Given the description of an element on the screen output the (x, y) to click on. 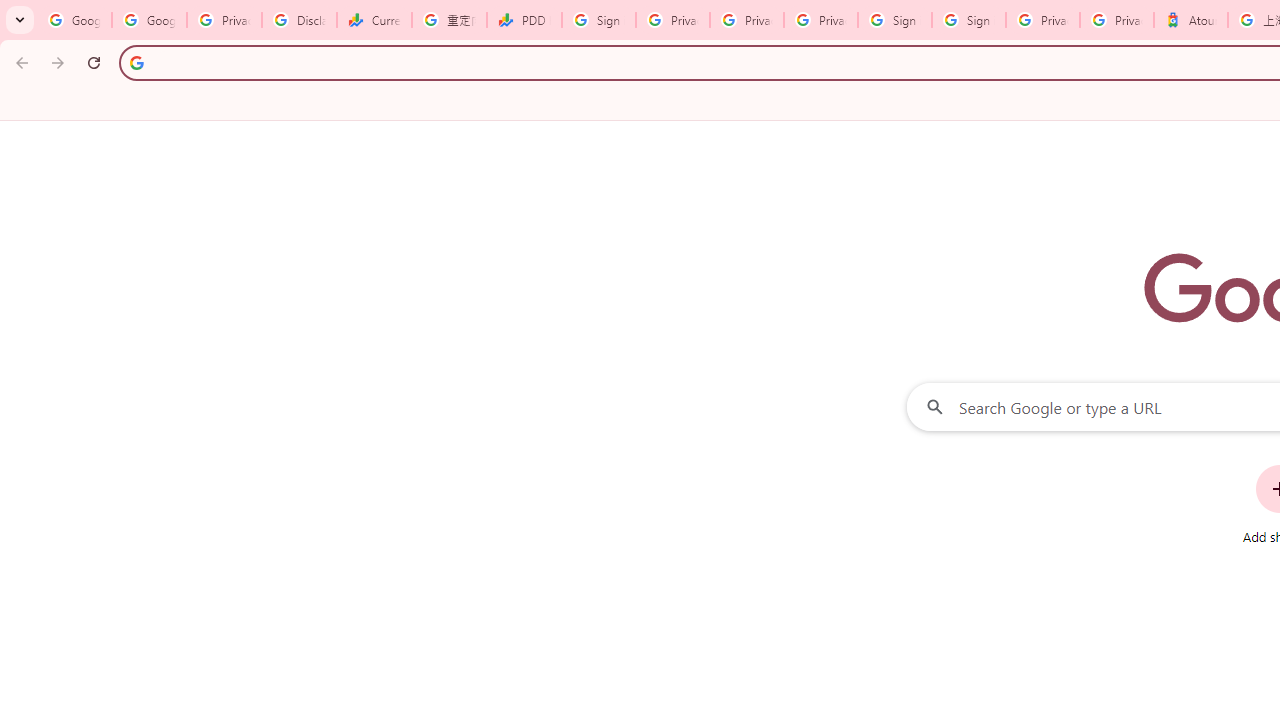
Currencies - Google Finance (374, 20)
Atour Hotel - Google hotels (1190, 20)
Privacy Checkup (820, 20)
Privacy Checkup (747, 20)
Sign in - Google Accounts (598, 20)
